Given the description of an element on the screen output the (x, y) to click on. 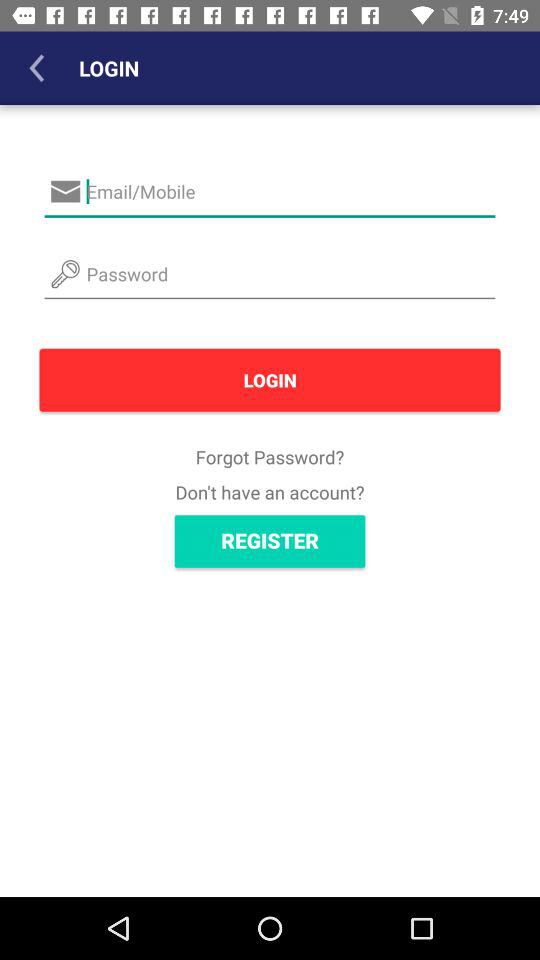
jump to the don t have icon (269, 492)
